Given the description of an element on the screen output the (x, y) to click on. 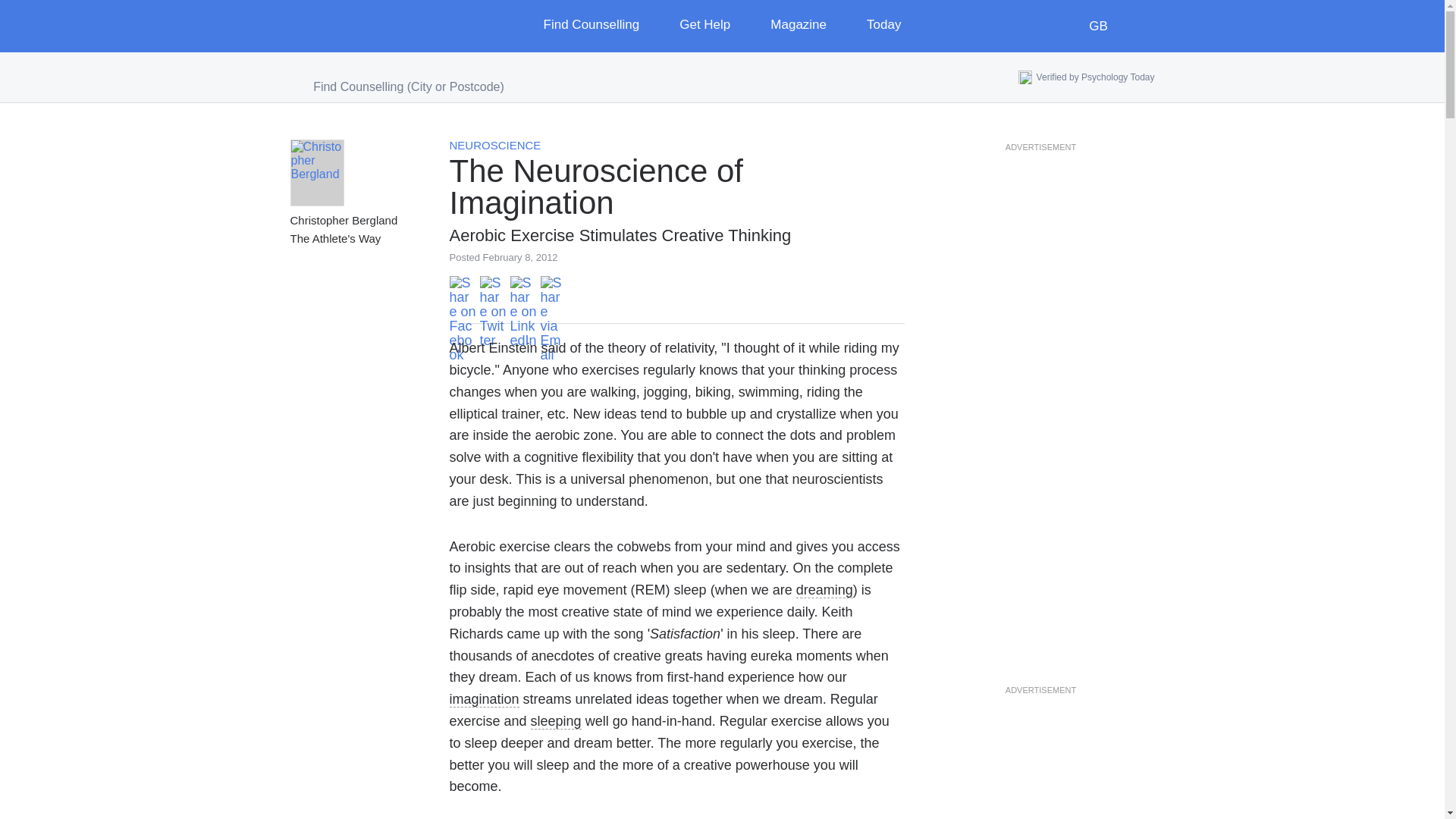
Get Help (715, 25)
Psychology Today (352, 25)
Find Counselling (602, 25)
